Given the description of an element on the screen output the (x, y) to click on. 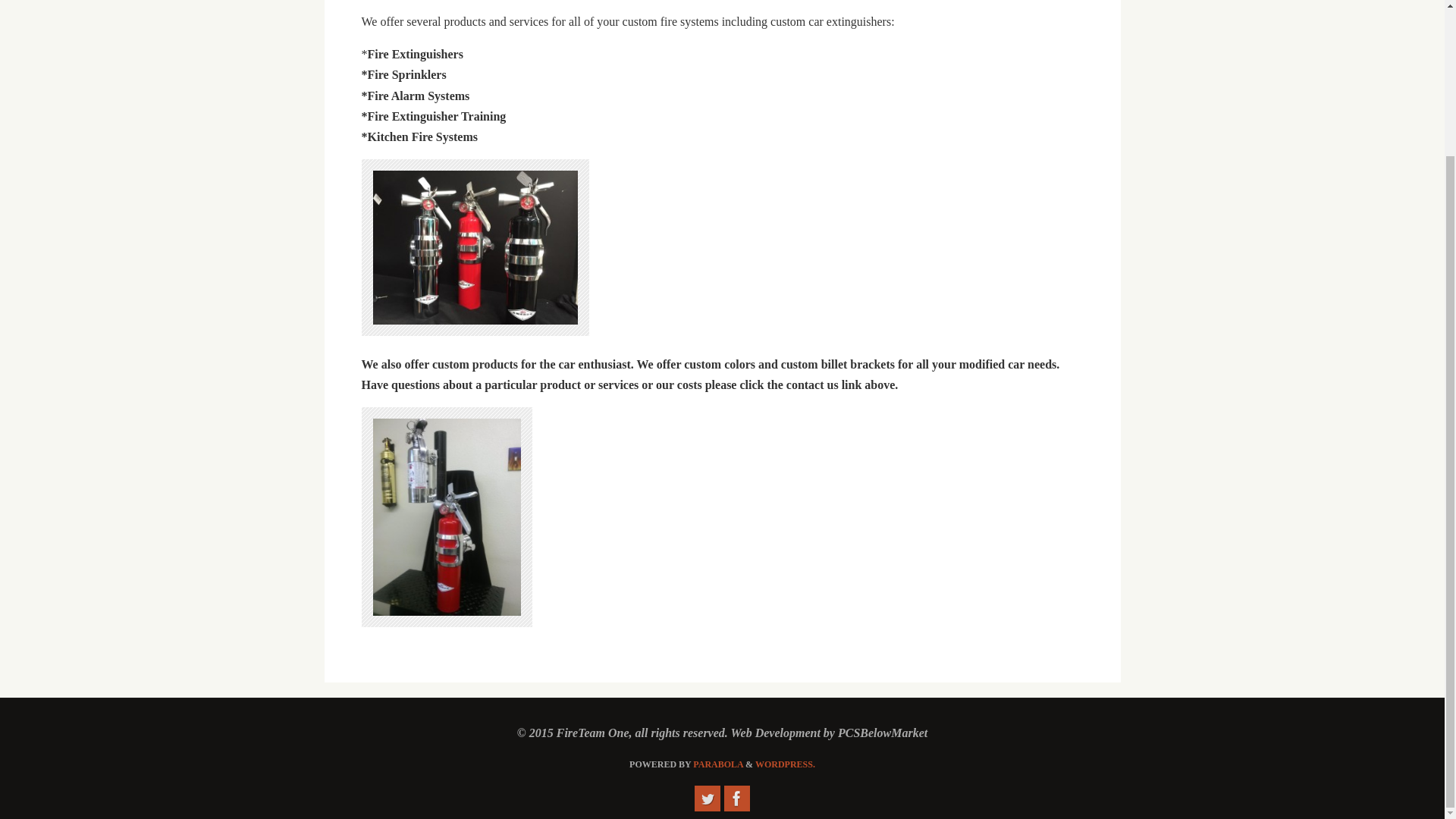
Twitter (707, 798)
PARABOLA (717, 764)
Parabola Theme by Cryout Creations (717, 764)
Facebook (736, 798)
Semantic Personal Publishing Platform (785, 764)
WORDPRESS. (785, 764)
